Given the description of an element on the screen output the (x, y) to click on. 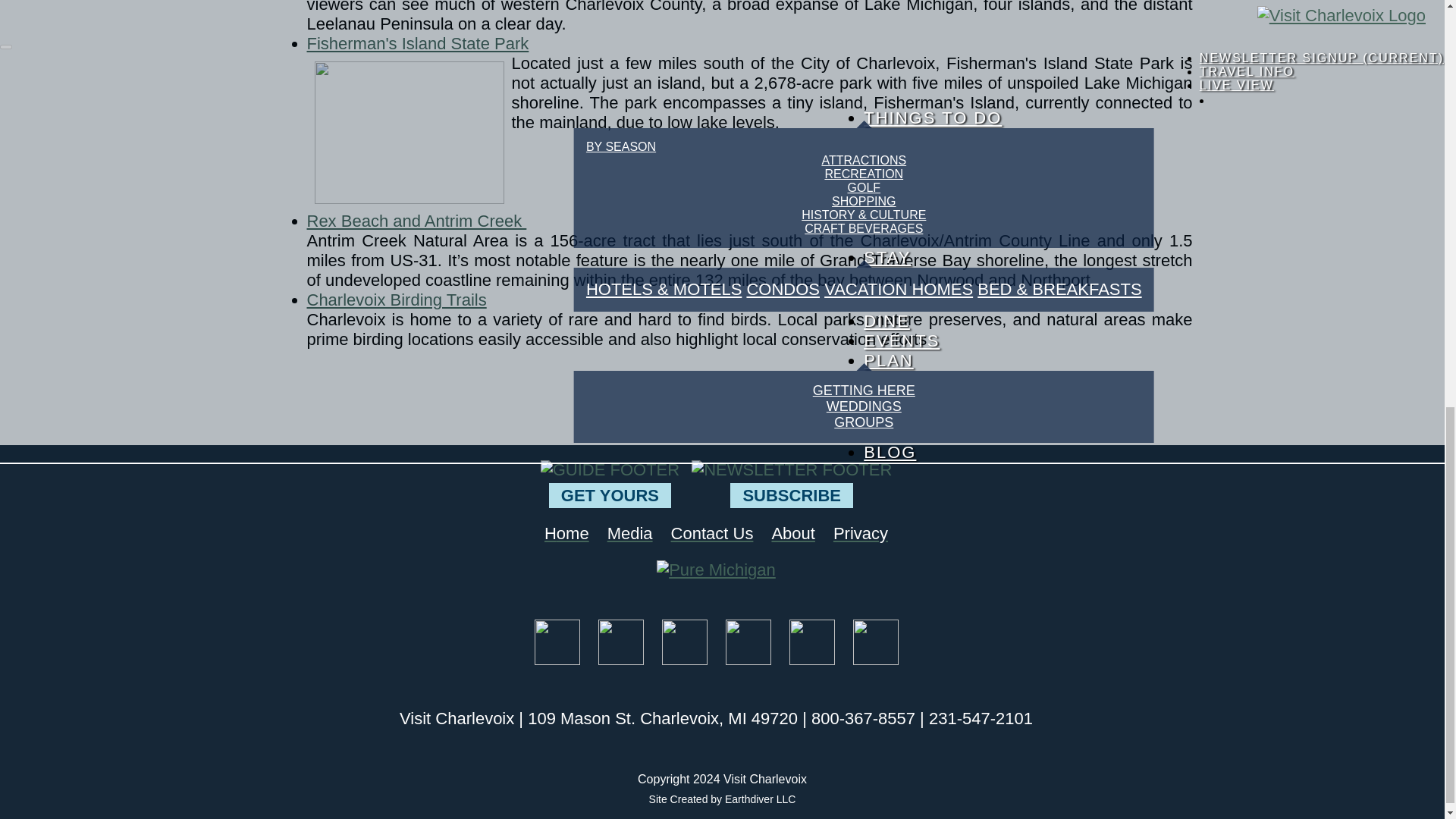
Charlevoix Birding Trails (395, 299)
Media (629, 533)
Contact Us (712, 533)
Rex Beach and Antrim Creek  (415, 220)
SUBSCRIBE (791, 495)
ome (572, 533)
Fisherman's Island State Park (416, 43)
GET YOURS (609, 495)
H (550, 533)
About (793, 533)
